Given the description of an element on the screen output the (x, y) to click on. 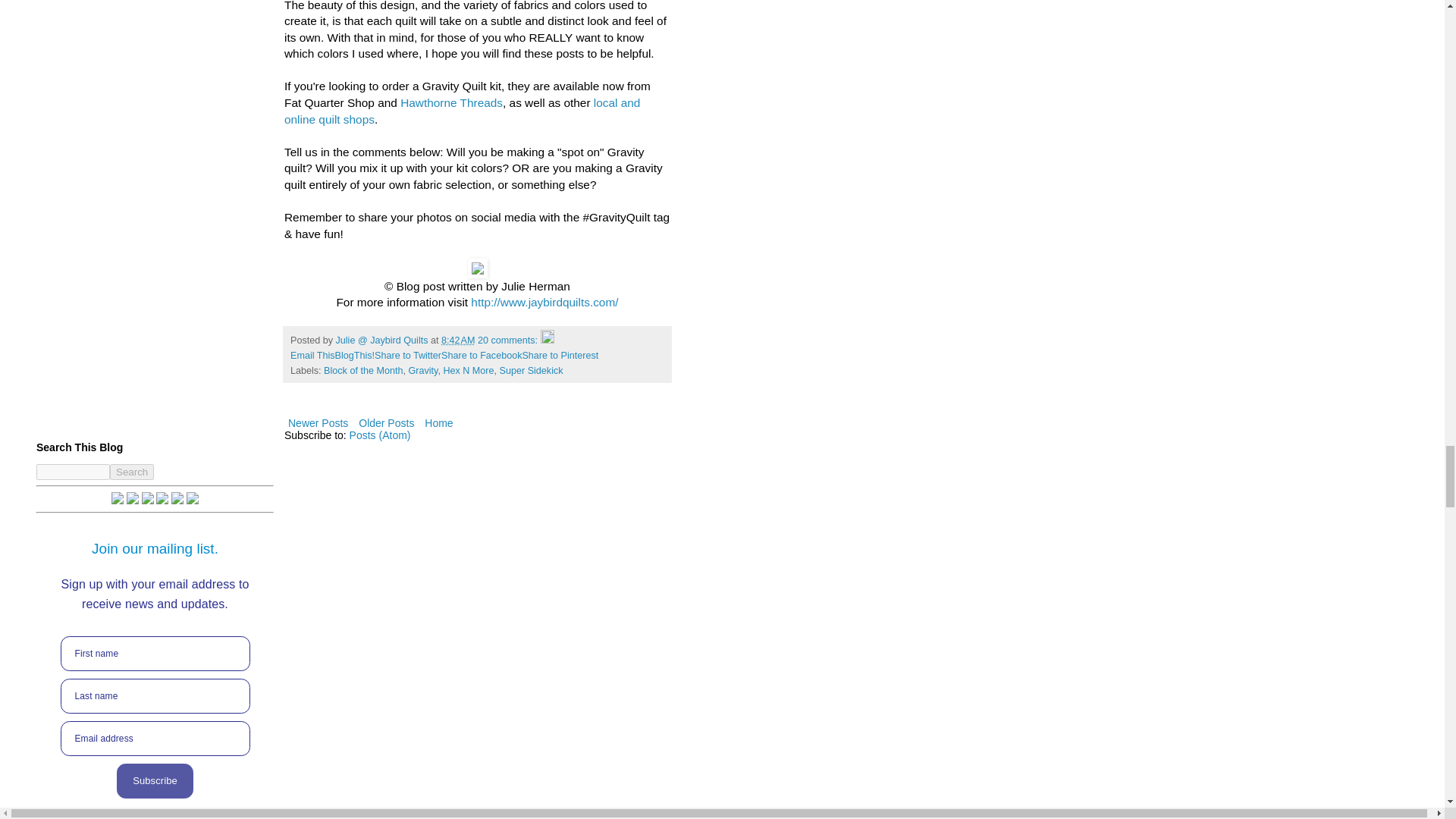
Search (132, 471)
Search (132, 471)
